Given the description of an element on the screen output the (x, y) to click on. 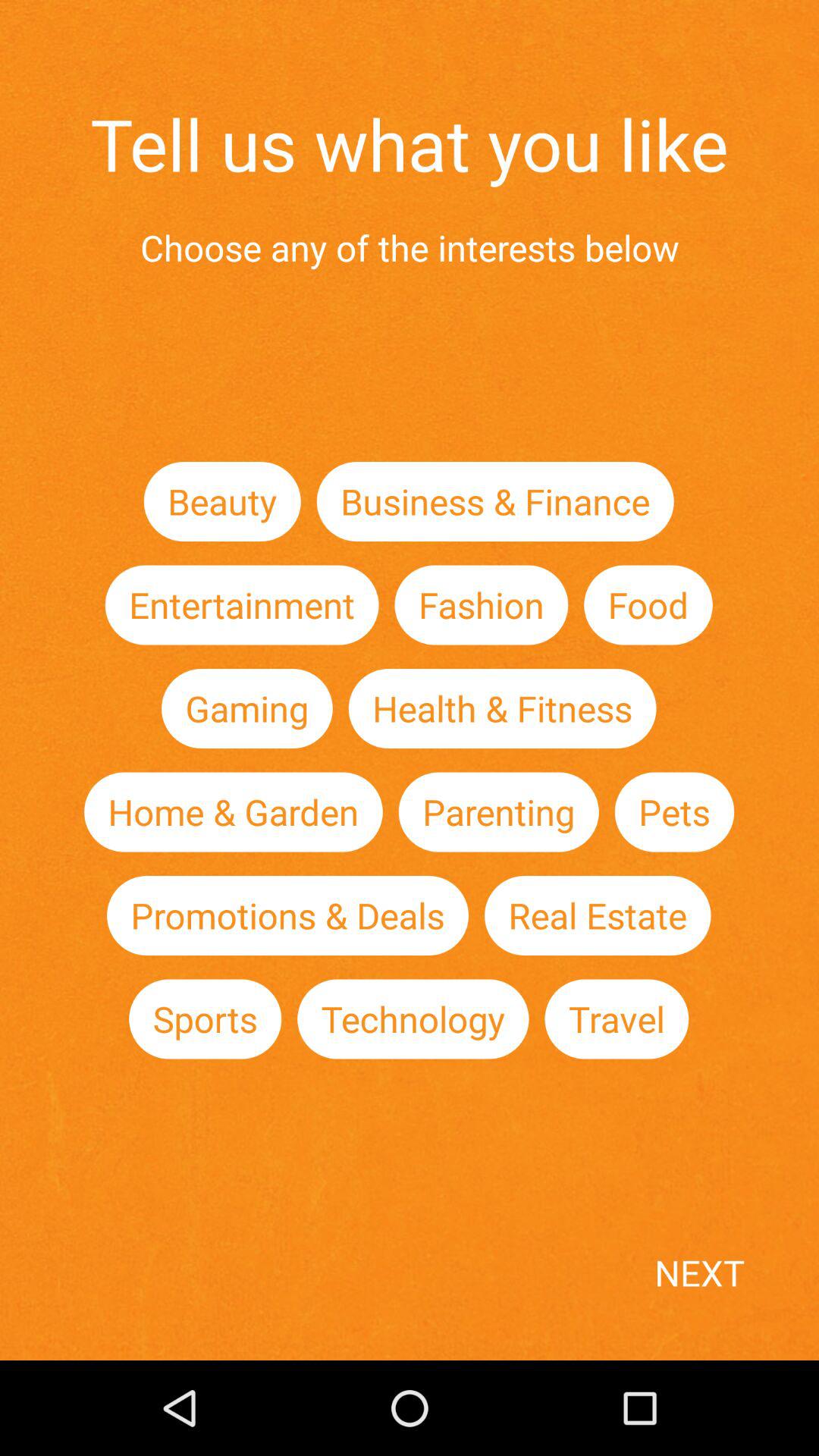
choose the item to the right of the beauty icon (494, 501)
